Given the description of an element on the screen output the (x, y) to click on. 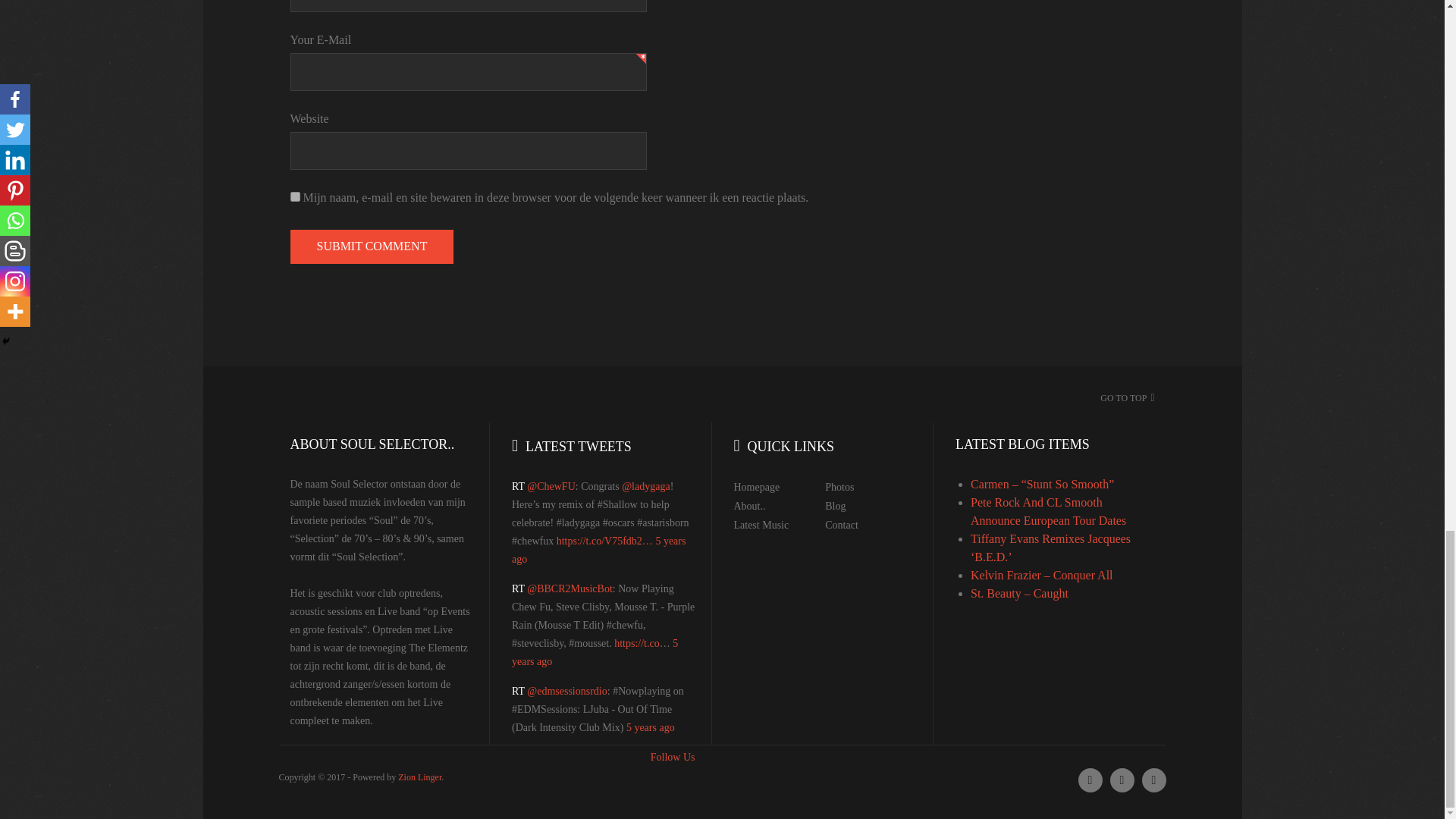
5 years ago (595, 652)
GO TO TOP (1123, 398)
Submit Comment (370, 246)
5 years ago (598, 550)
Submit Comment (370, 246)
5 years ago (650, 727)
yes (294, 196)
Follow Us (672, 757)
Twitter (1090, 780)
